Given the description of an element on the screen output the (x, y) to click on. 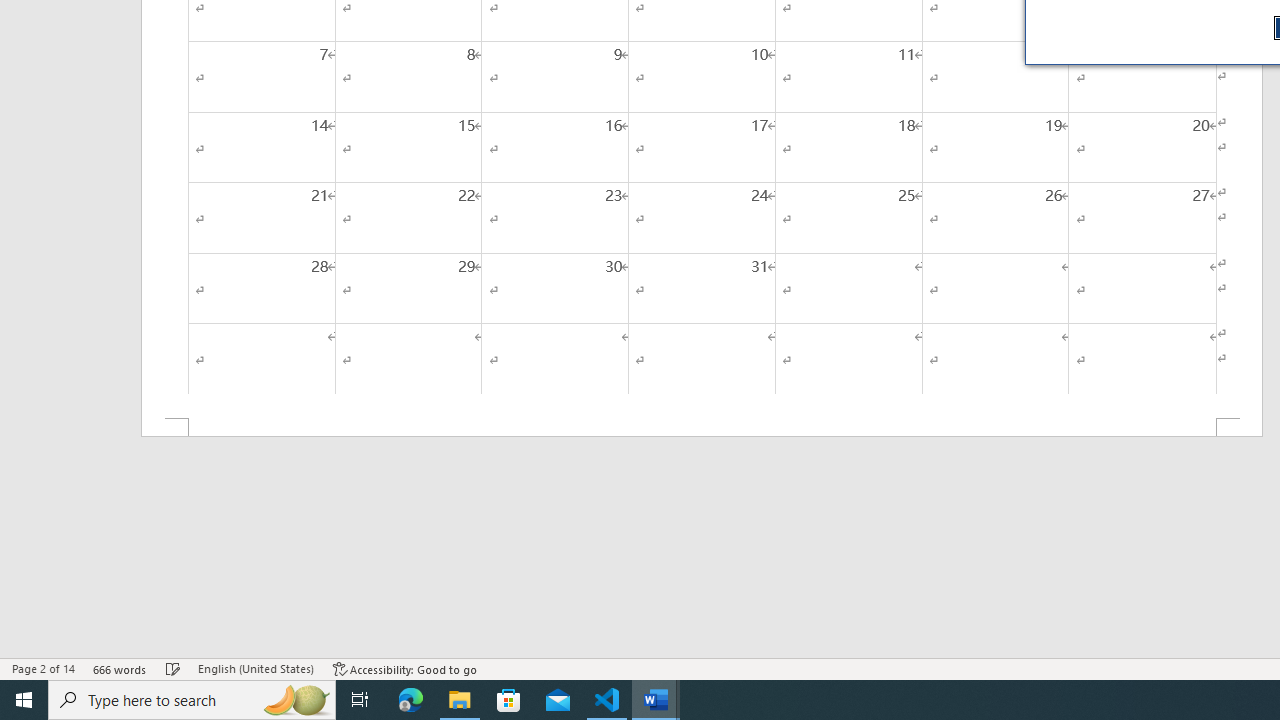
Microsoft Edge (411, 699)
